Given the description of an element on the screen output the (x, y) to click on. 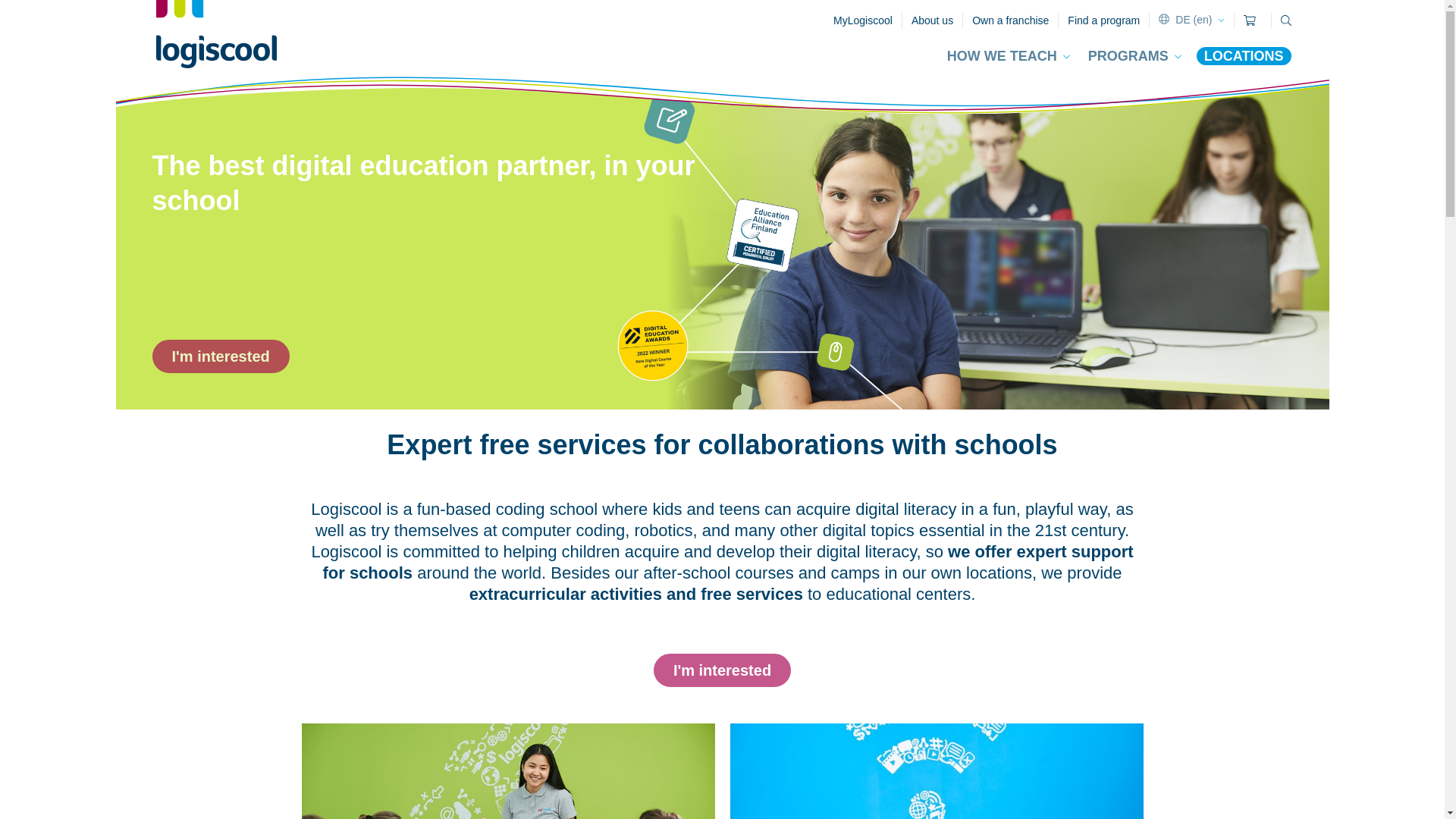
MyLogiscool (862, 20)
Find a program (1103, 20)
LOCATIONS (1243, 55)
PROGRAMS (1133, 55)
HOW WE TEACH (1008, 55)
Own a franchise (1010, 20)
I'm interested (219, 356)
I'm interested (721, 670)
About us (931, 20)
